Given the description of an element on the screen output the (x, y) to click on. 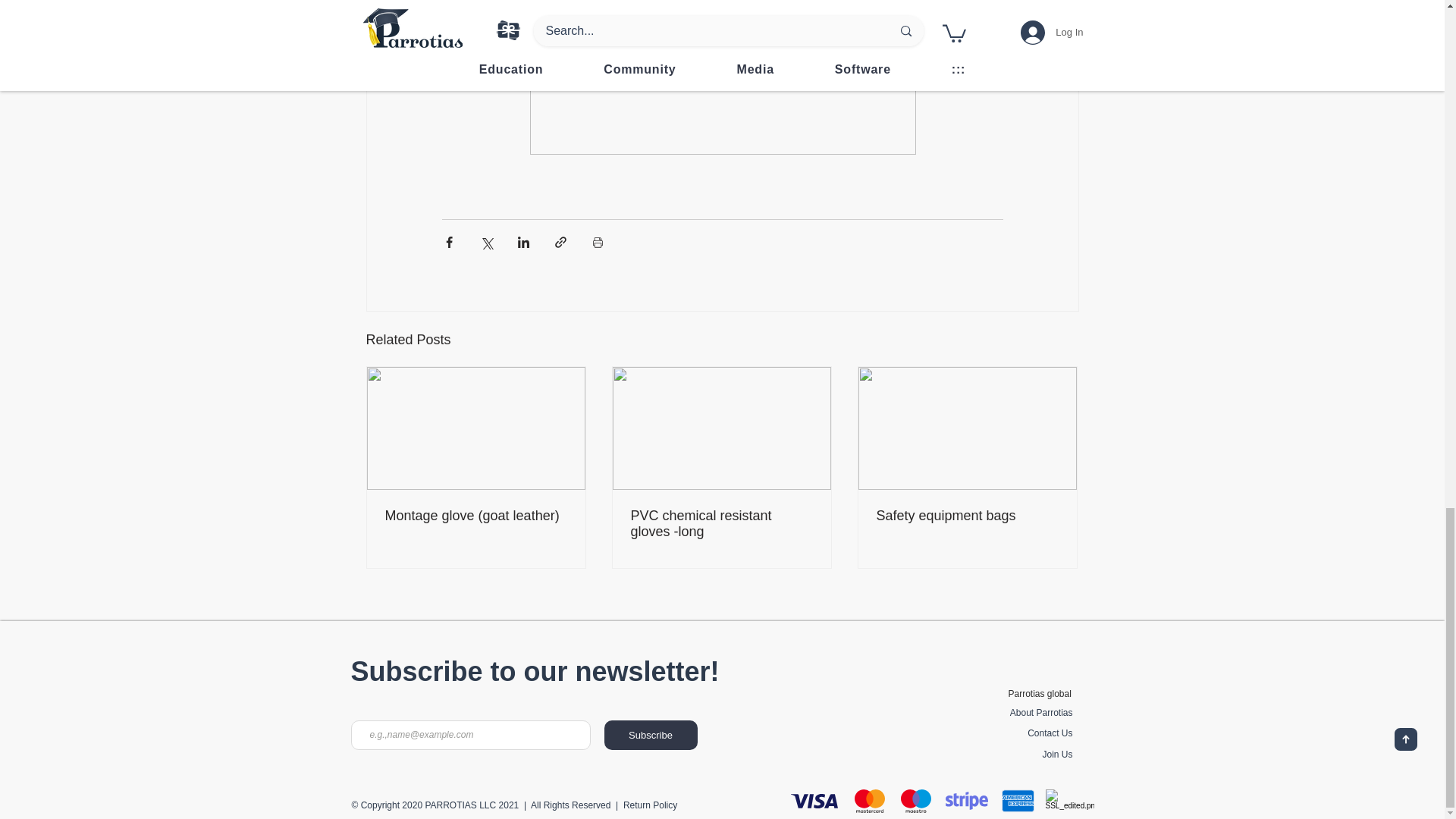
PVC chemical resistant gloves -long (721, 523)
Safety equipment bags (967, 515)
